Given the description of an element on the screen output the (x, y) to click on. 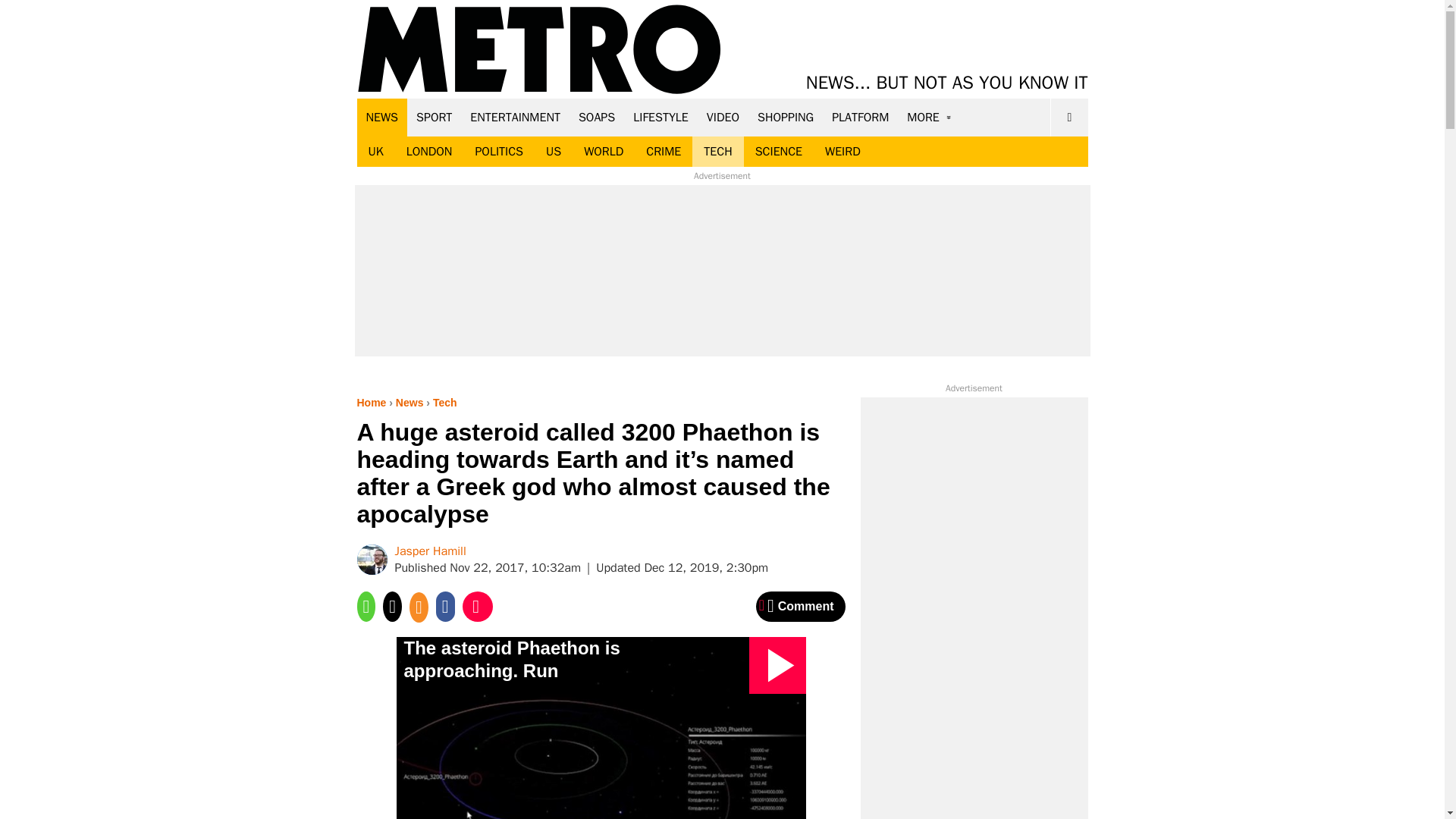
POLITICS (498, 151)
ENTERTAINMENT (515, 117)
Metro (539, 50)
SPORT (434, 117)
LONDON (429, 151)
LIFESTYLE (660, 117)
SCIENCE (778, 151)
SOAPS (596, 117)
UK (375, 151)
Play Video (777, 665)
WEIRD (842, 151)
CRIME (663, 151)
WORLD (603, 151)
TECH (717, 151)
US (553, 151)
